Given the description of an element on the screen output the (x, y) to click on. 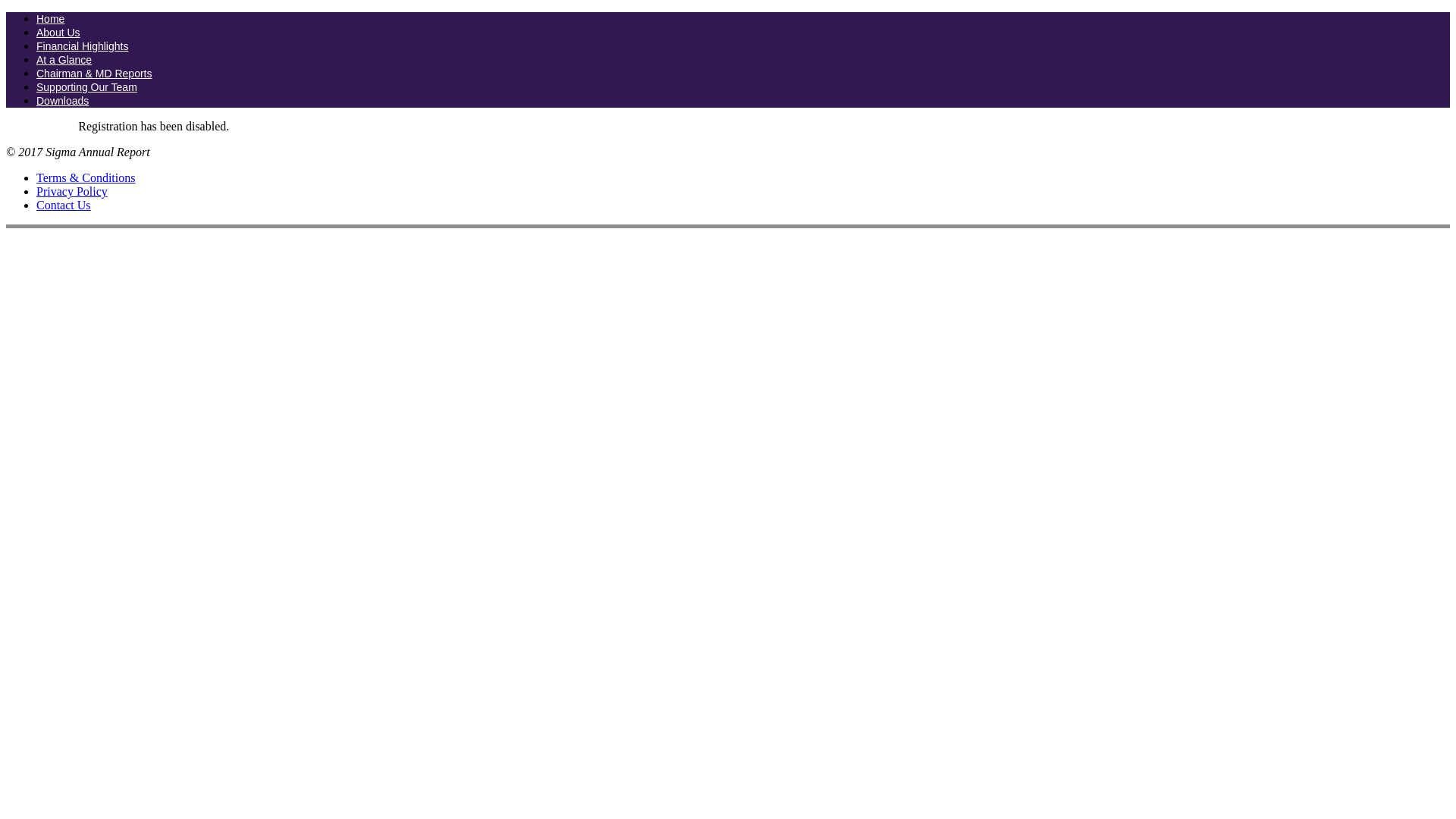
Home (50, 19)
Contact Us (63, 205)
At a Glance (63, 60)
Financial Highlights (82, 46)
Privacy Policy (71, 191)
Supporting Our Team (86, 87)
Downloads (62, 101)
Contact Us (63, 205)
About Us (58, 32)
Privacy Policy (71, 191)
